Given the description of an element on the screen output the (x, y) to click on. 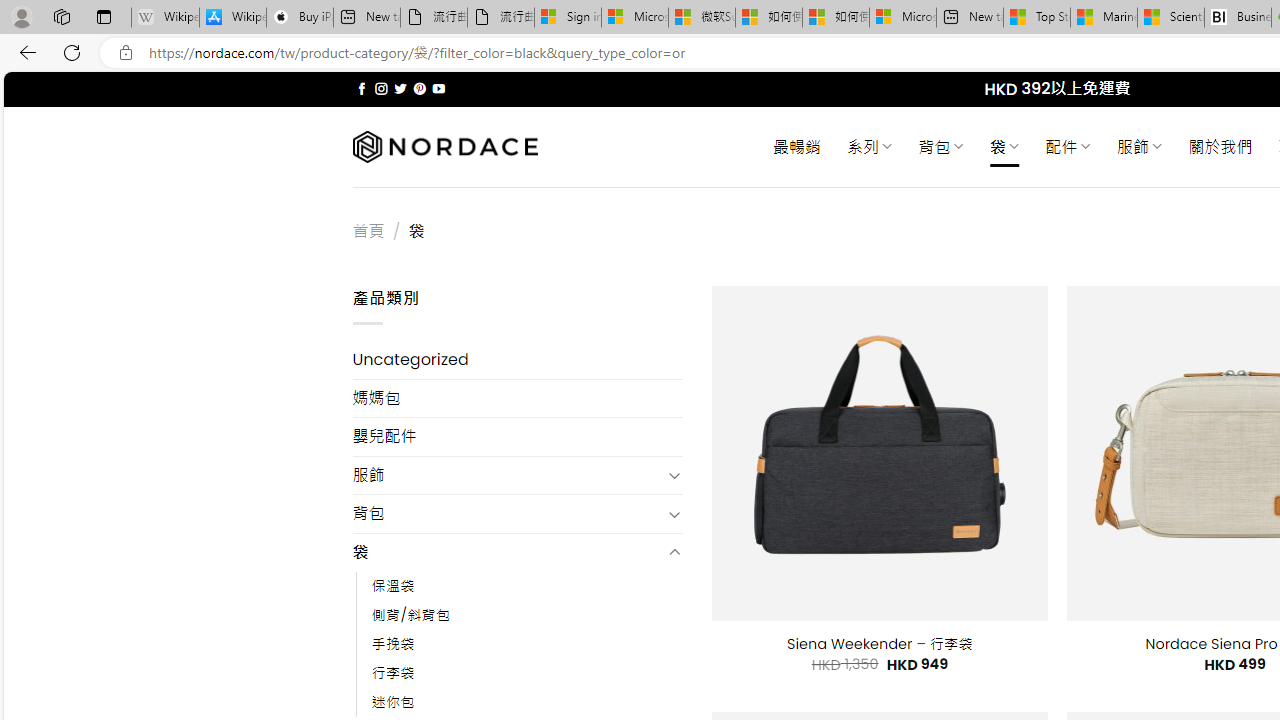
Microsoft account | Account Checkup (902, 17)
Top Stories - MSN (1036, 17)
Follow on Instagram (381, 88)
Marine life - MSN (1103, 17)
